Given the description of an element on the screen output the (x, y) to click on. 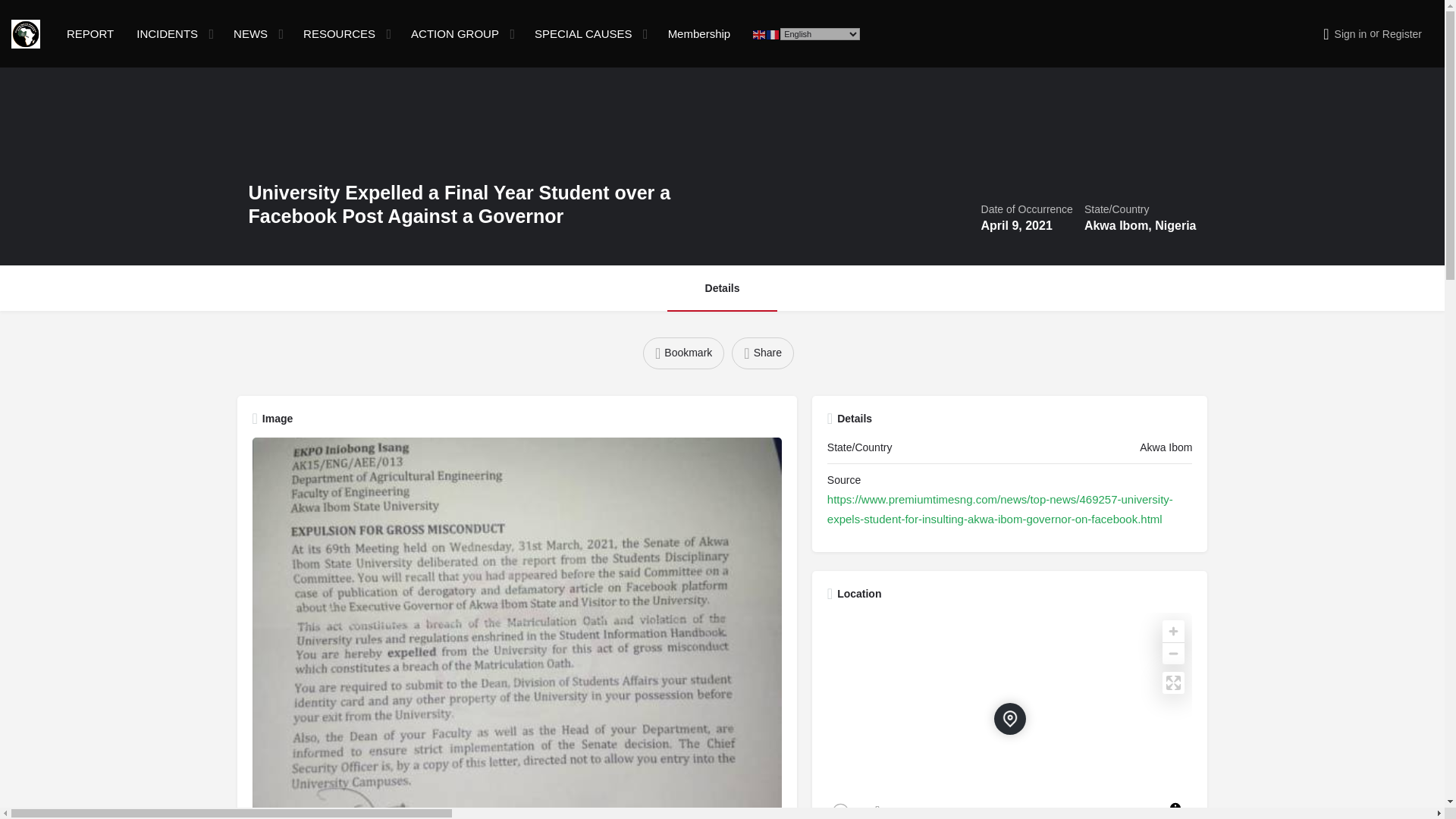
Zoom in (1173, 630)
RESOURCES (338, 33)
REPORT (89, 33)
Zoom out (1173, 653)
Enter fullscreen (1173, 682)
NEWS (249, 33)
INCIDENTS (167, 33)
